Given the description of an element on the screen output the (x, y) to click on. 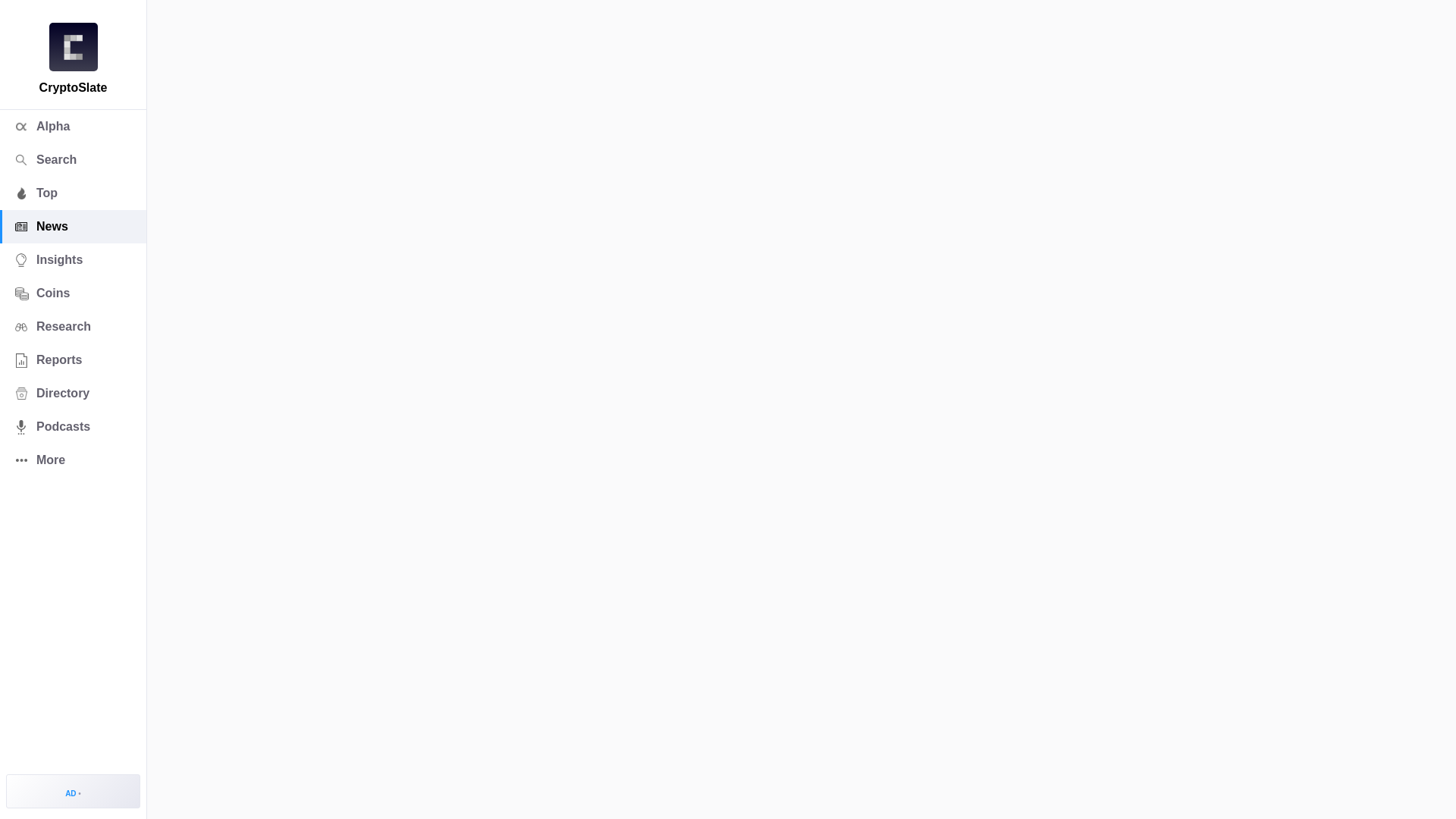
Coins (73, 293)
CryptoSlate (72, 46)
News (73, 226)
 CryptoSlate (72, 46)
AD (72, 790)
Podcasts (73, 426)
Reports (73, 359)
Research (73, 326)
Alpha (73, 126)
Insights (73, 259)
Top (73, 192)
Directory (73, 393)
